Given the description of an element on the screen output the (x, y) to click on. 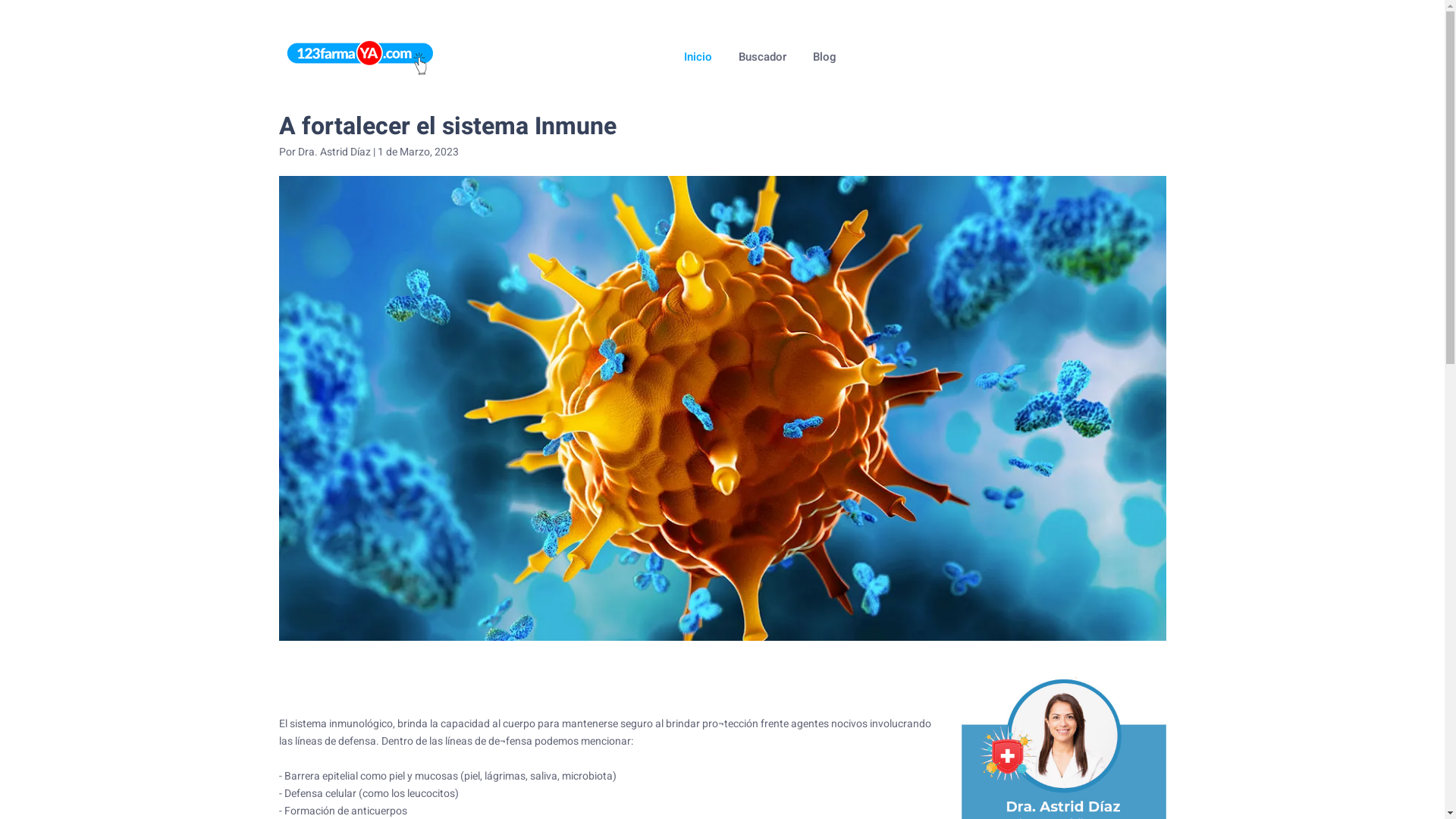
Inicio Element type: text (698, 56)
Buscador Element type: text (762, 56)
Blog Element type: text (824, 56)
